Given the description of an element on the screen output the (x, y) to click on. 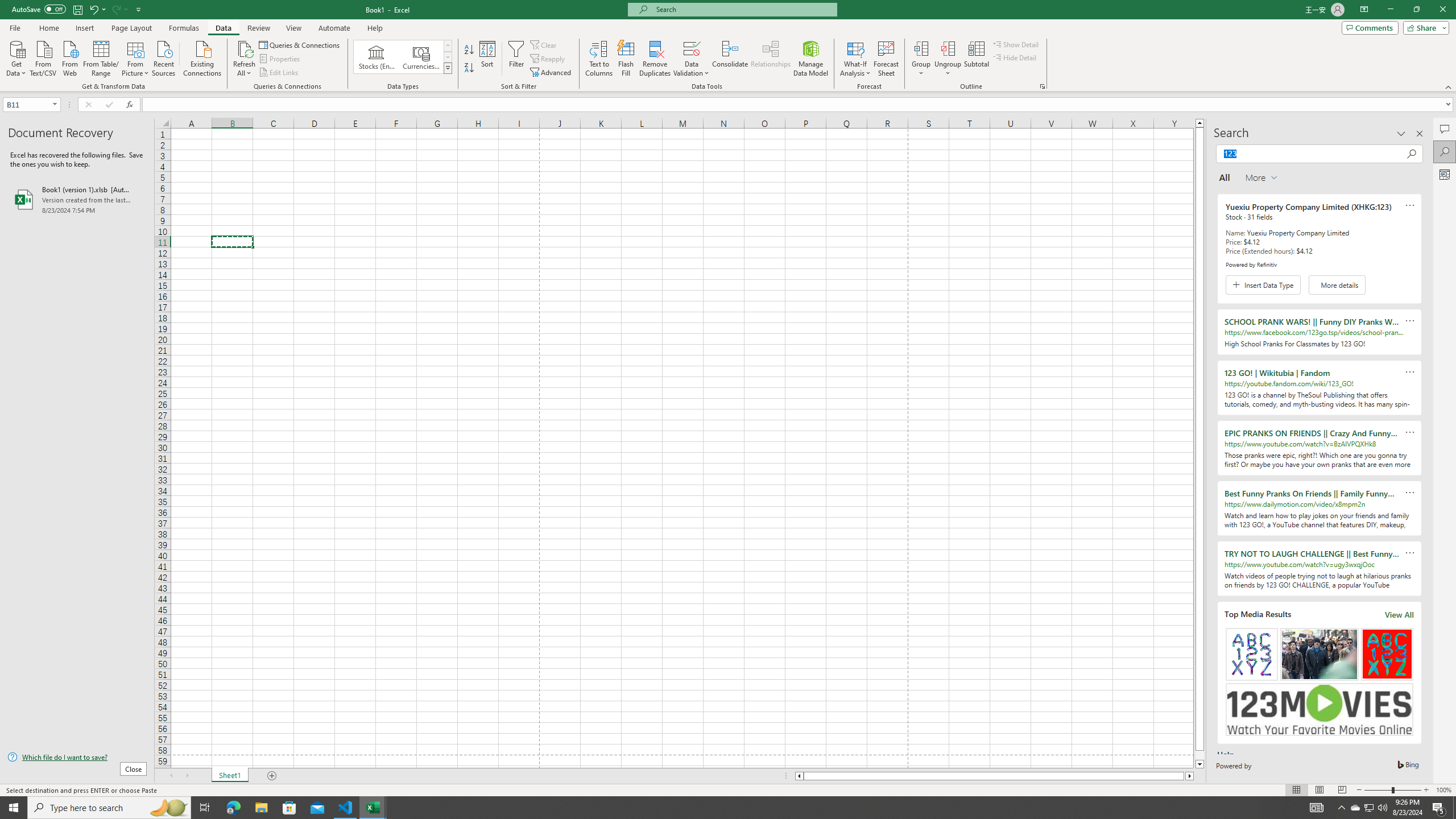
Sort A to Z (469, 49)
